Given the description of an element on the screen output the (x, y) to click on. 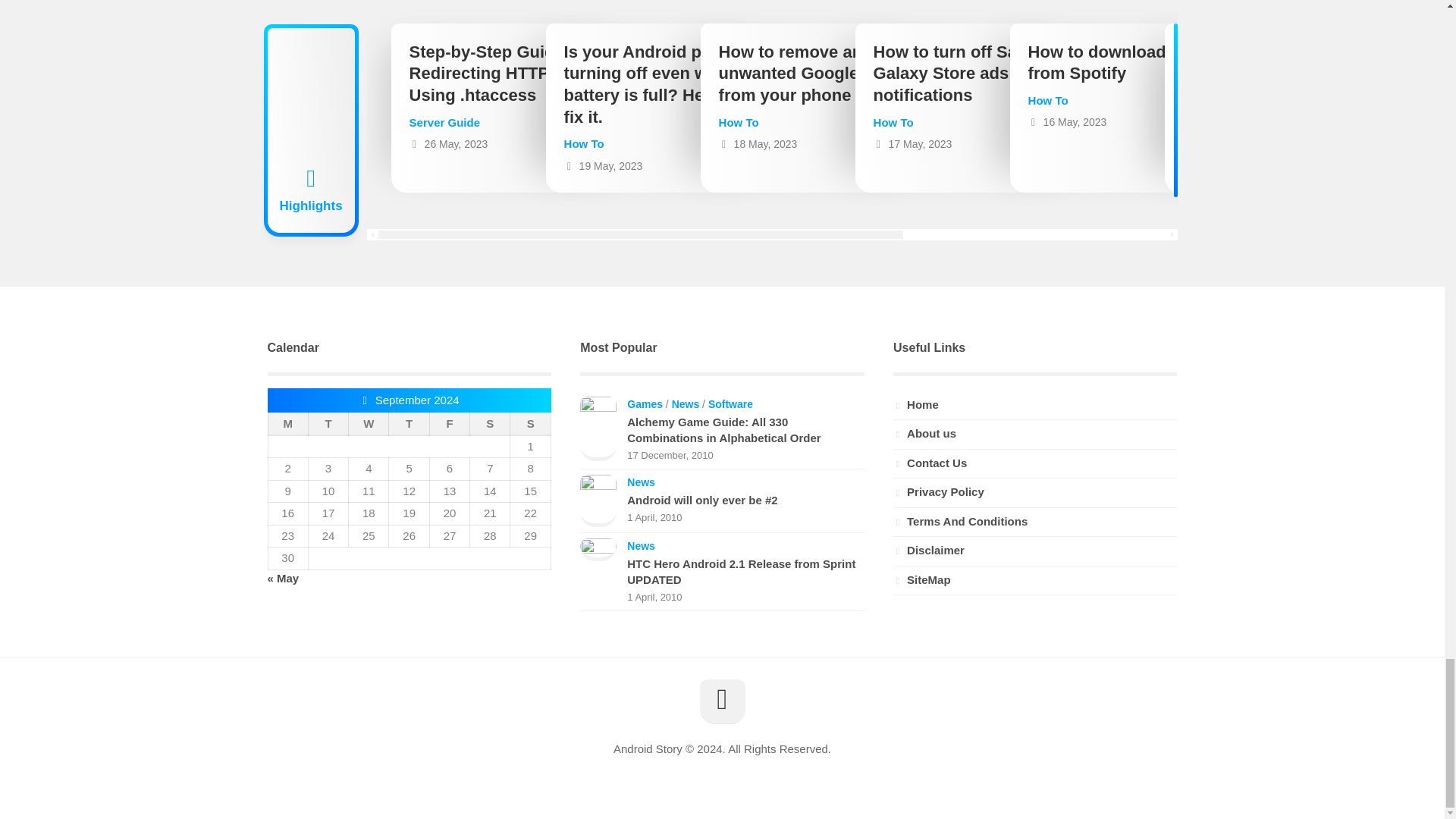
Monday (287, 424)
Thursday (408, 424)
Sunday (530, 424)
Friday (448, 424)
Saturday (490, 424)
Tuesday (327, 424)
Wednesday (368, 424)
